Given the description of an element on the screen output the (x, y) to click on. 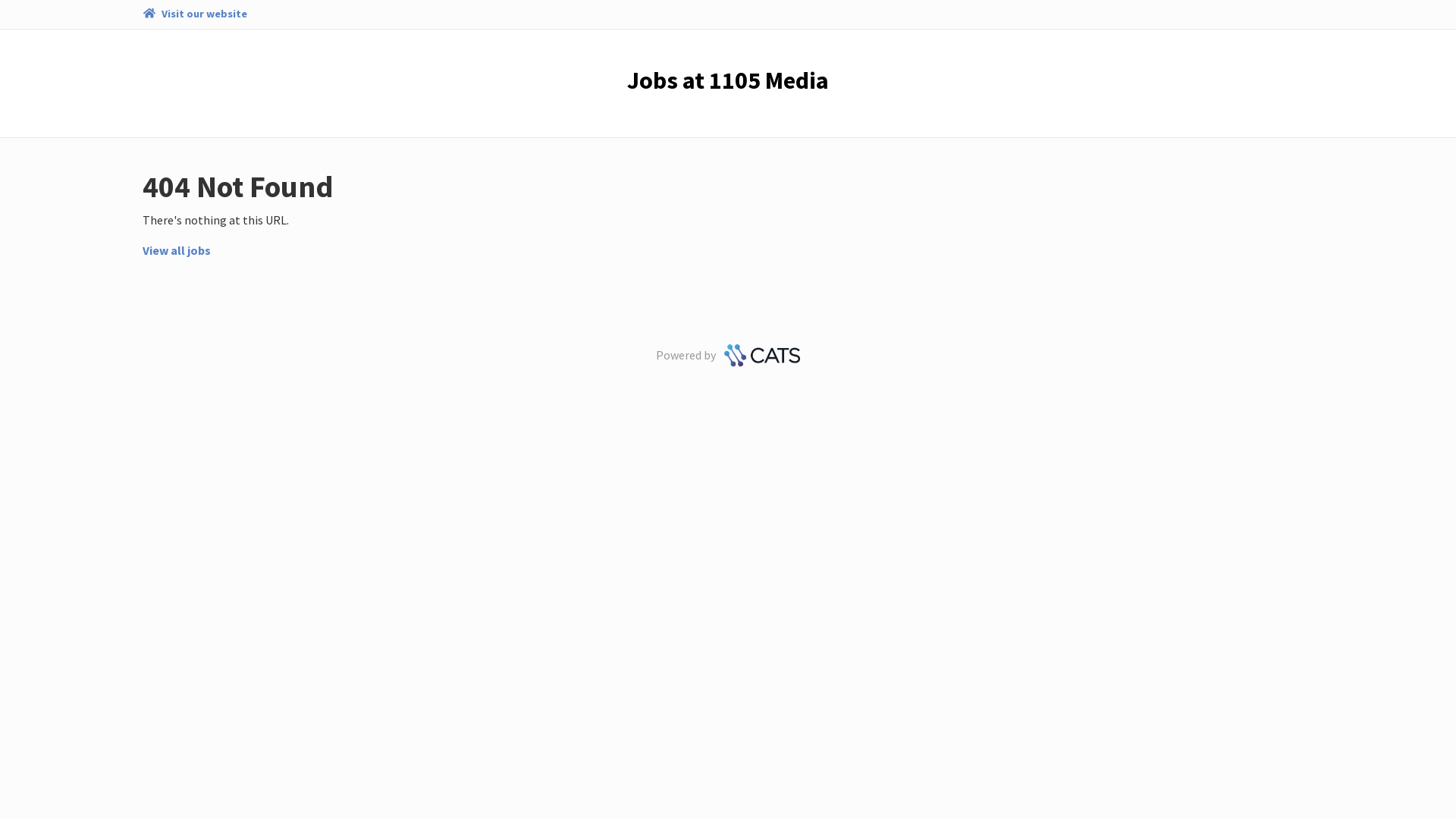
View all jobs Element type: text (176, 250)
Visit our website Element type: text (194, 14)
